Given the description of an element on the screen output the (x, y) to click on. 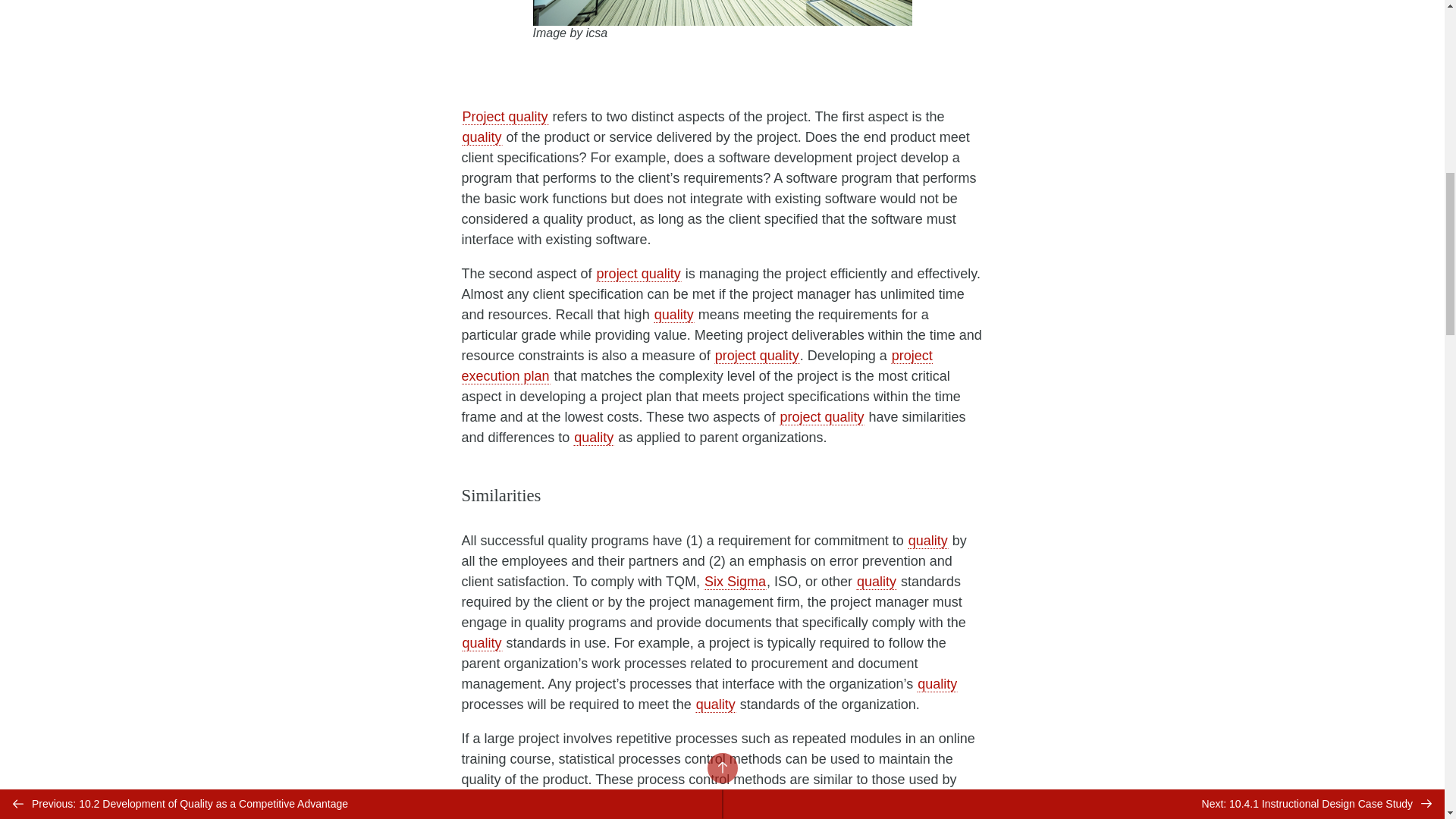
Project quality (504, 116)
quality (481, 136)
quality (481, 642)
process managers (518, 799)
quality (928, 540)
quality (937, 683)
project execution plan (696, 365)
quality (593, 437)
project quality (638, 273)
quality (876, 581)
